Given the description of an element on the screen output the (x, y) to click on. 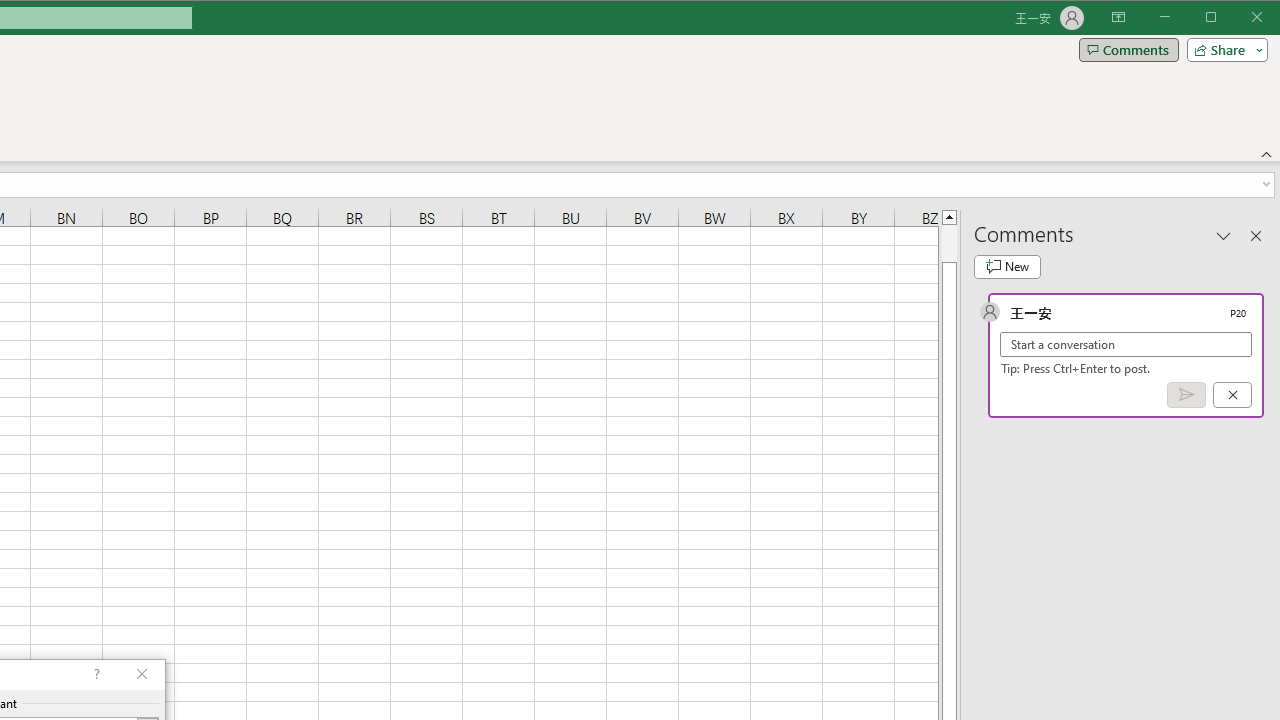
Maximize (1239, 18)
Cancel (1232, 395)
New comment (1007, 266)
Page up (948, 243)
Post comment (Ctrl + Enter) (1186, 395)
Start a conversation (1126, 344)
